Given the description of an element on the screen output the (x, y) to click on. 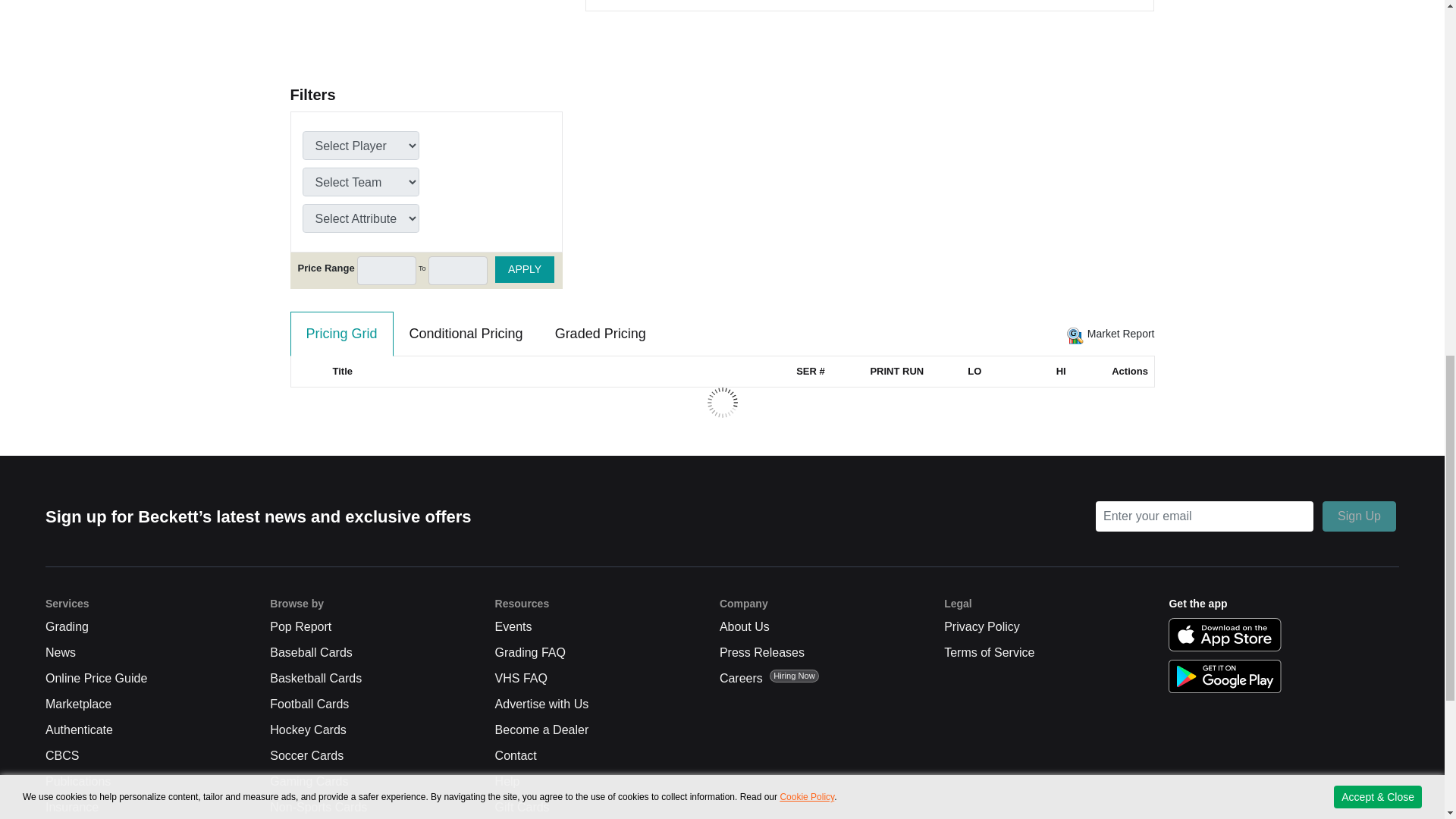
Please login to use price range filter (457, 270)
News (60, 652)
Non-Sports Cards (317, 807)
Online Price Guide (96, 678)
Authenticate (79, 730)
apply (524, 269)
Please login to use price range filter (386, 270)
Gaming Cards (308, 782)
Insurance (72, 807)
Baseball Cards (310, 652)
